Given the description of an element on the screen output the (x, y) to click on. 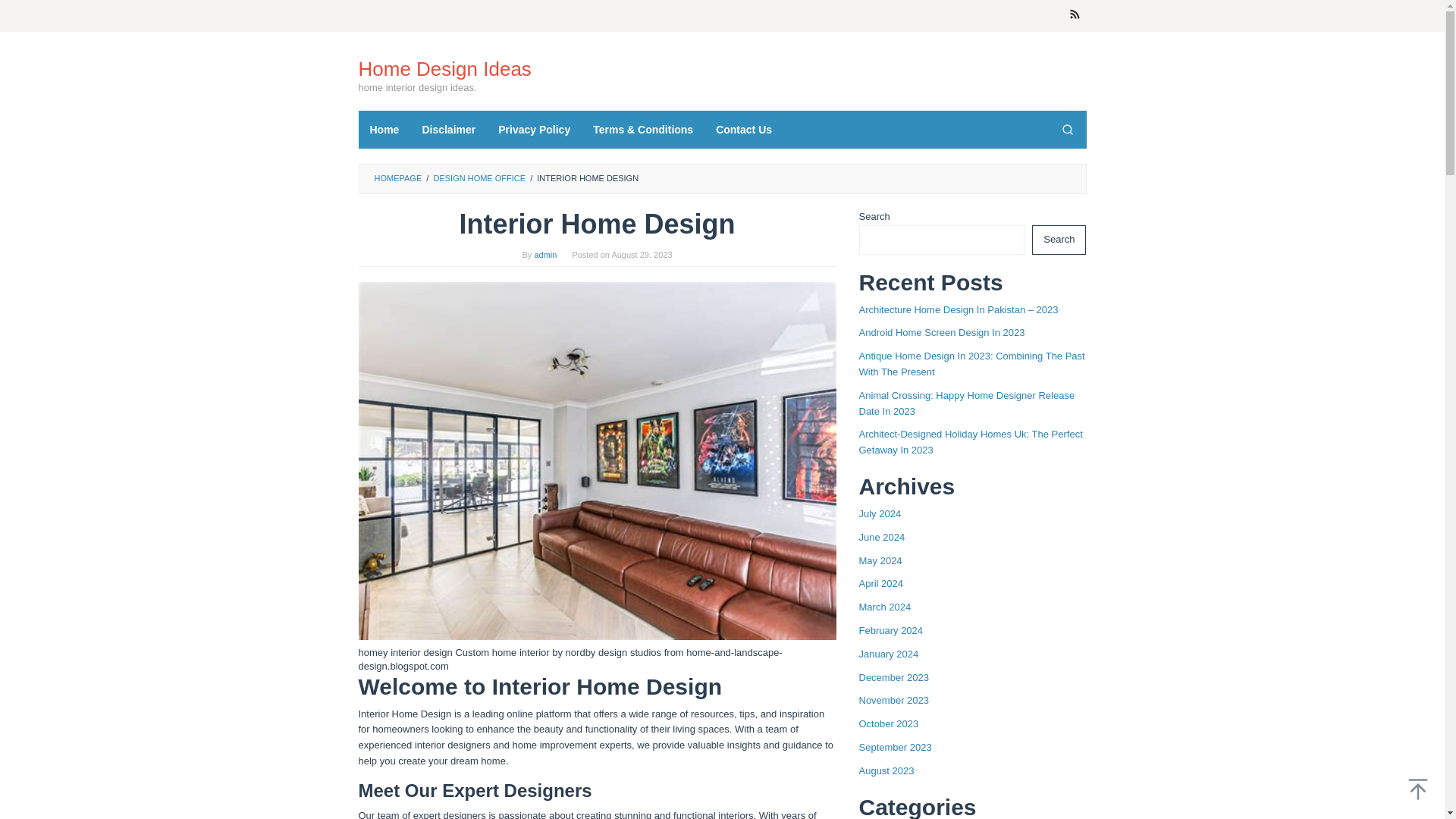
DESIGN HOME OFFICE (478, 177)
Home (384, 129)
May 2024 (880, 560)
admin (545, 254)
Android Home Screen Design In 2023 (942, 332)
July 2024 (880, 513)
February 2024 (891, 630)
Home Design Ideas (444, 68)
Privacy Policy (533, 129)
